Given the description of an element on the screen output the (x, y) to click on. 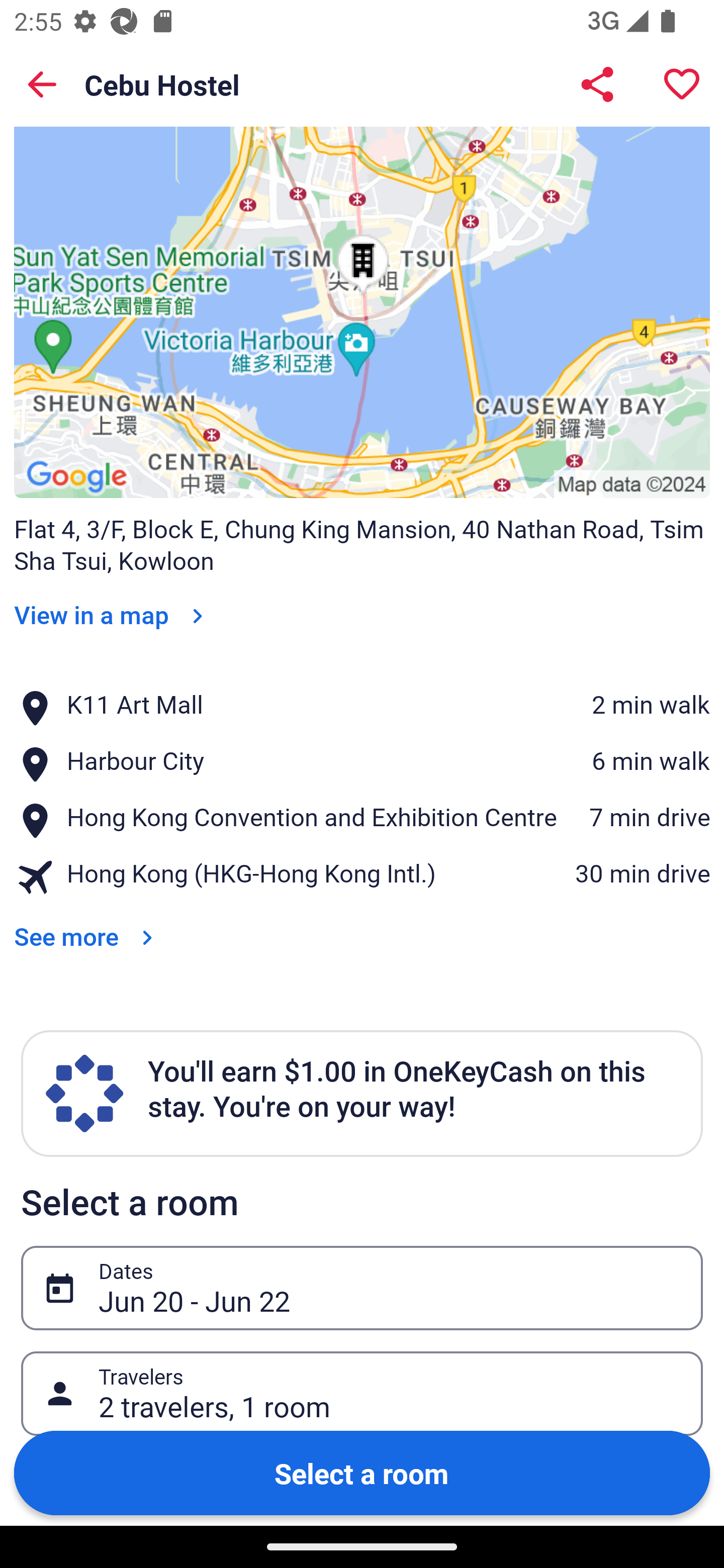
Back (42, 84)
Save property to a trip (681, 84)
Share Cebu Hostel (597, 84)
See more (86, 923)
Jun 20 - Jun 22 Dates (361, 1287)
Jun 20 - Jun 22 (390, 1287)
2 travelers, 1 room Travelers (361, 1393)
2 travelers, 1 room (390, 1393)
Select a room Button Select a room (361, 1472)
